Given the description of an element on the screen output the (x, y) to click on. 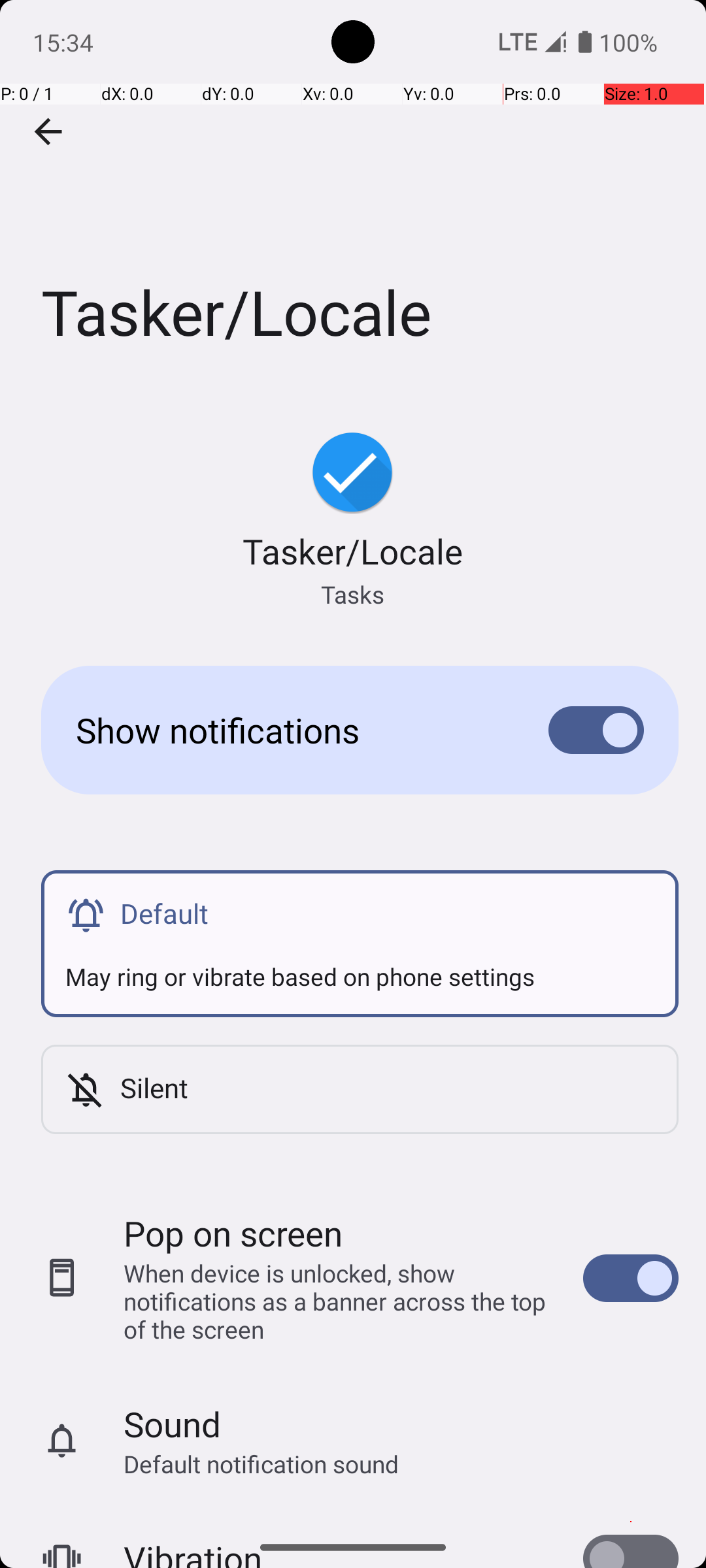
Tasker/Locale Element type: android.widget.FrameLayout (353, 195)
Show notifications Element type: android.widget.TextView (291, 729)
Pop on screen Element type: android.widget.TextView (233, 1232)
When device is unlocked, show notifications as a banner across the top of the screen Element type: android.widget.TextView (339, 1300)
Default notification sound Element type: android.widget.TextView (260, 1463)
May ring or vibrate based on phone settings Element type: android.widget.TextView (359, 964)
